Given the description of an element on the screen output the (x, y) to click on. 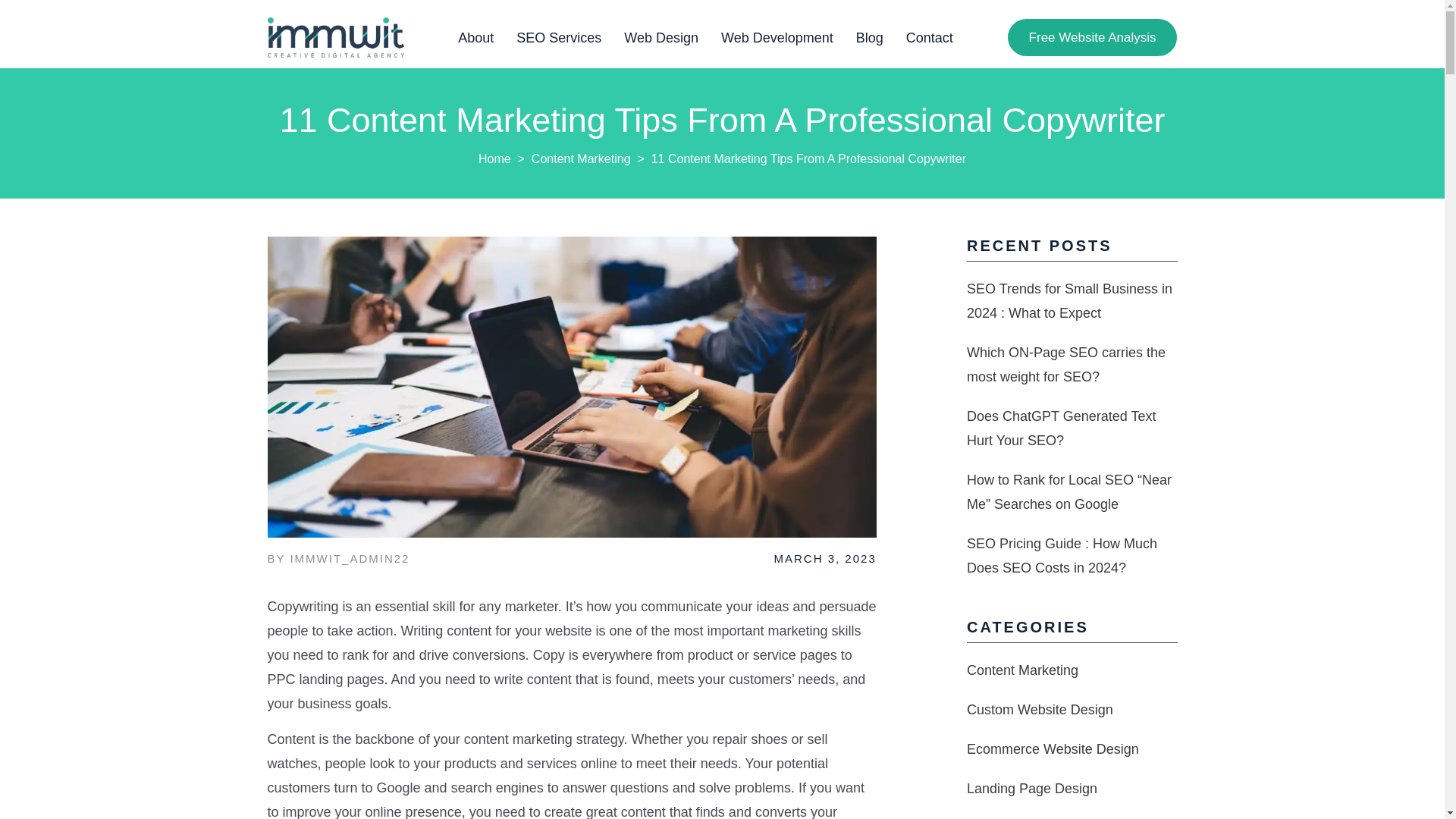
Ecommerce Website Design (1052, 749)
Content Marketing (580, 158)
SEO Pricing Guide : How Much Does SEO Costs in 2024? (1061, 555)
Does ChatGPT Generated Text Hurt Your SEO? (1061, 427)
Contact (924, 37)
Blog (869, 37)
Content Marketing (1022, 670)
Web Design (661, 37)
Free Website Analysis (1092, 37)
SEO Trends for Small Business in 2024 : What to Expect (1069, 301)
IMMWIT (495, 158)
About (481, 37)
Home (495, 158)
Content Marketing (580, 158)
Landing Page Design (1031, 788)
